Given the description of an element on the screen output the (x, y) to click on. 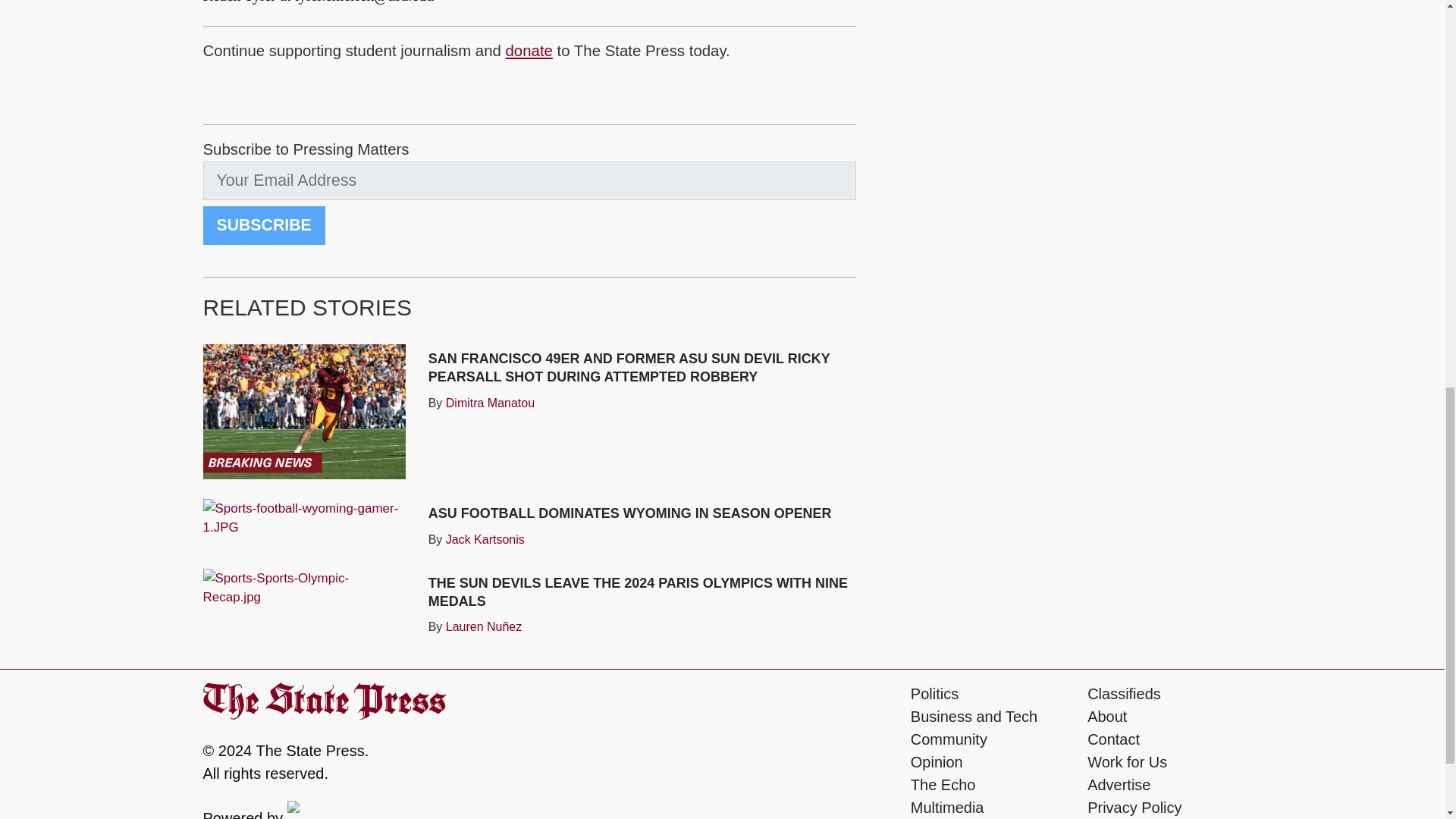
Politics (934, 693)
donate (529, 50)
ASU football dominates Wyoming in season opener (304, 517)
ASU football dominates Wyoming in season opener (629, 513)
ASU FOOTBALL DOMINATES WYOMING IN SEASON OPENER (629, 513)
Subscribe (263, 225)
Jack Kartsonis (484, 538)
